Given the description of an element on the screen output the (x, y) to click on. 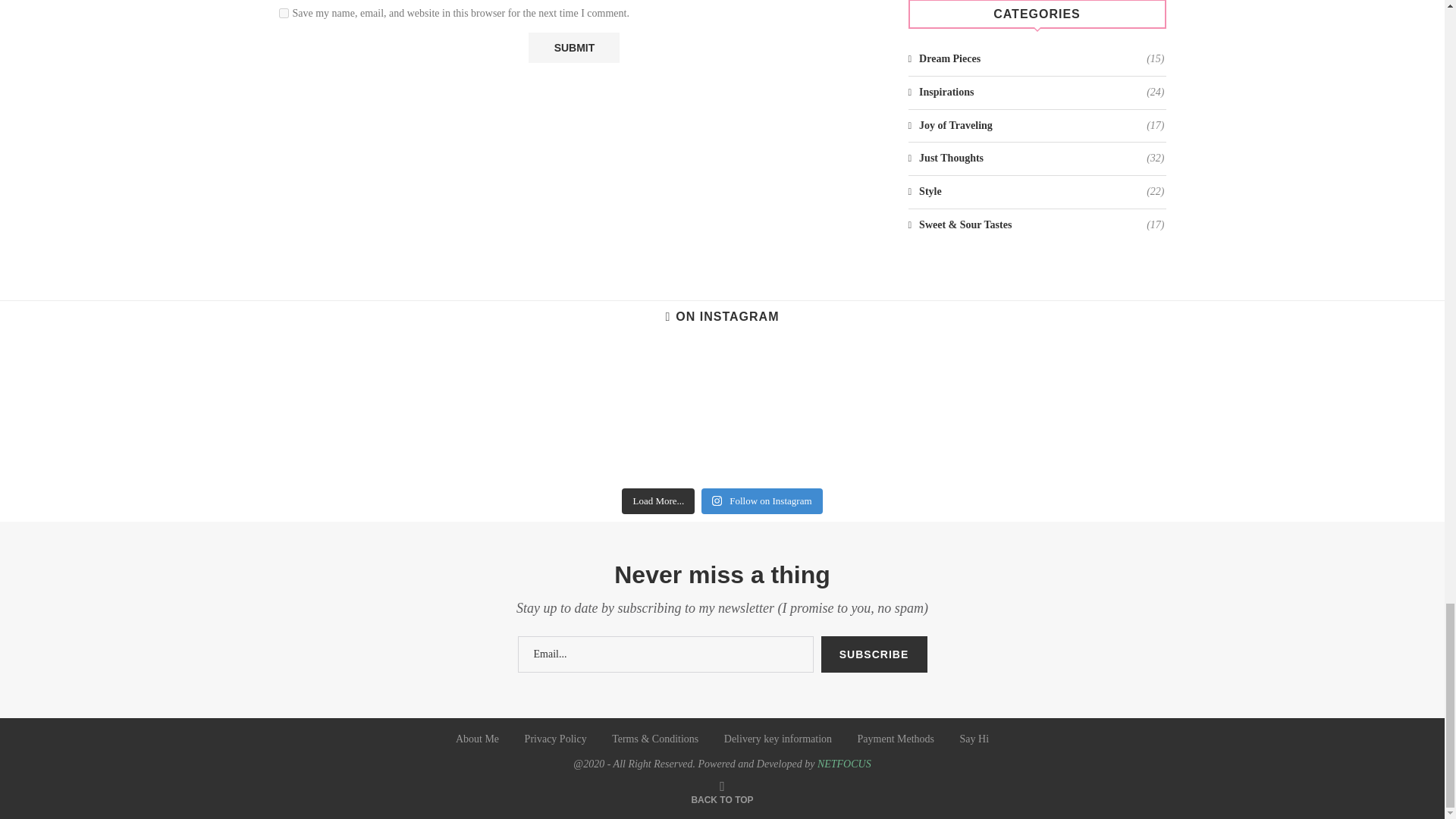
Subscribe (873, 654)
yes (283, 13)
Submit (574, 47)
